Given the description of an element on the screen output the (x, y) to click on. 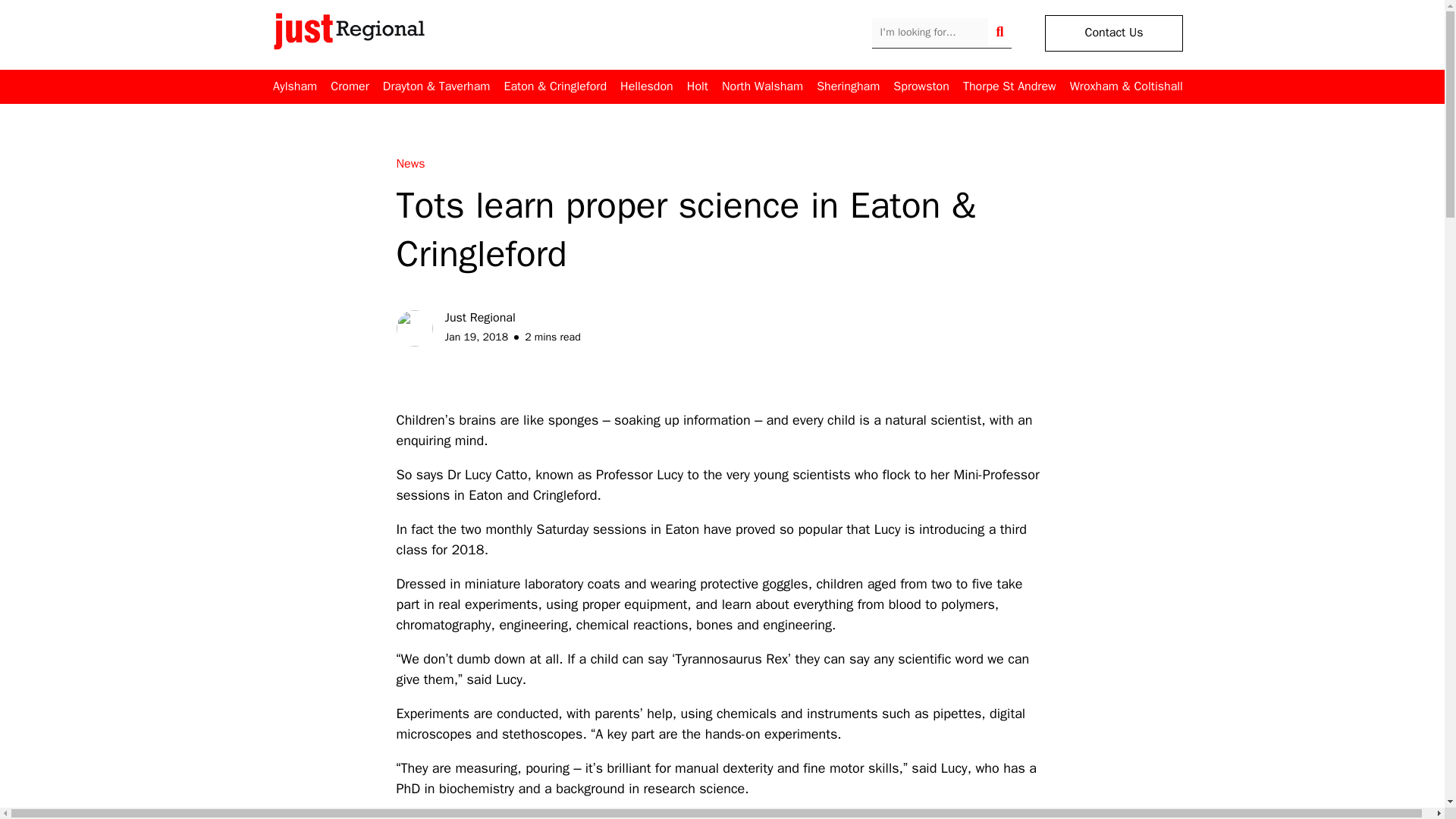
Aylsham (295, 86)
Contact Us (1113, 33)
Thorpe St Andrew (1009, 86)
Sprowston (921, 86)
Sheringham (847, 86)
North Walsham (762, 86)
Hellesdon (646, 86)
Cromer (349, 86)
